Given the description of an element on the screen output the (x, y) to click on. 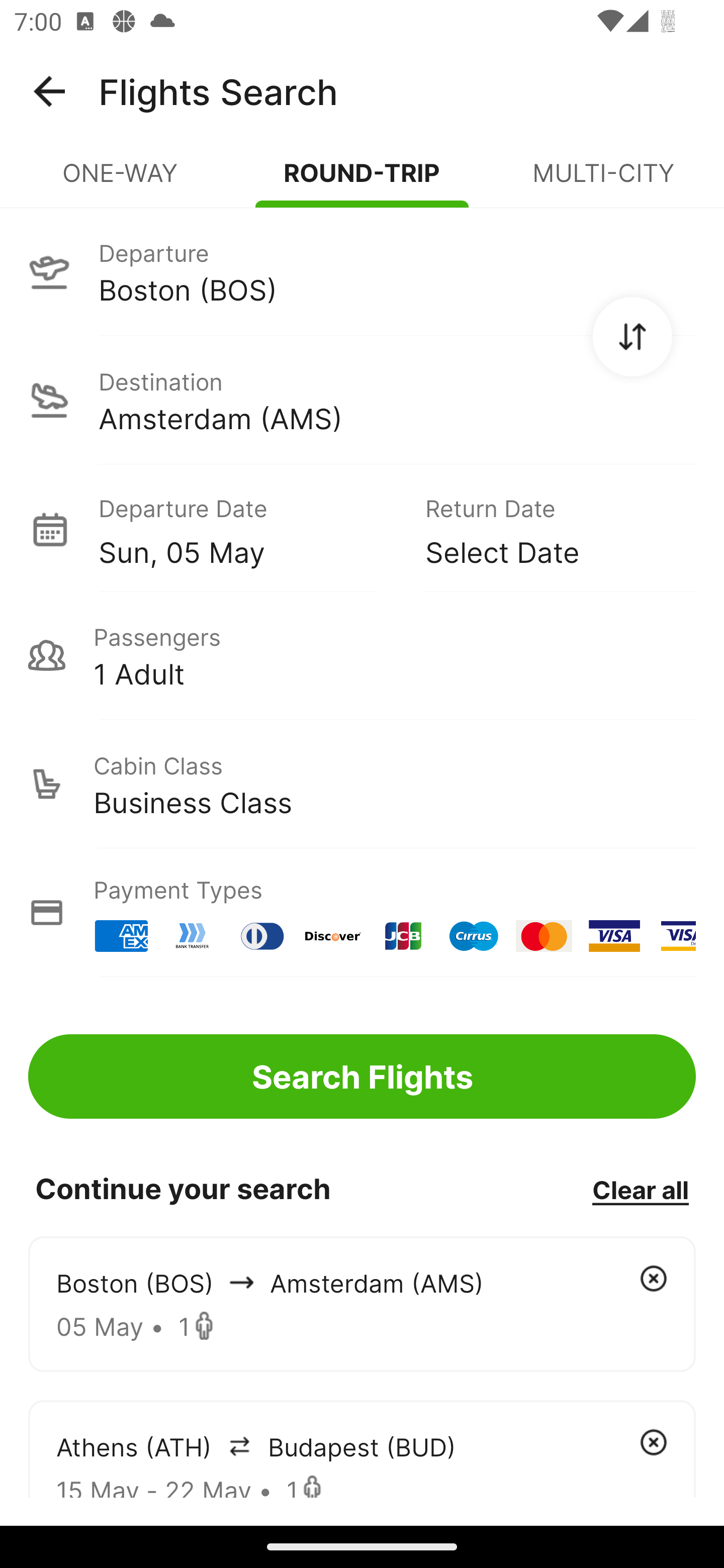
ONE-WAY (120, 180)
ROUND-TRIP (361, 180)
MULTI-CITY (603, 180)
Departure Boston (BOS) (362, 270)
Destination Amsterdam (AMS) (362, 400)
Departure Date Sun, 05 May (247, 528)
Return Date Select Date (546, 528)
Passengers 1 Adult (362, 655)
Cabin Class Business Class (362, 783)
Payment Types (362, 912)
Search Flights (361, 1075)
Clear all (640, 1189)
